Given the description of an element on the screen output the (x, y) to click on. 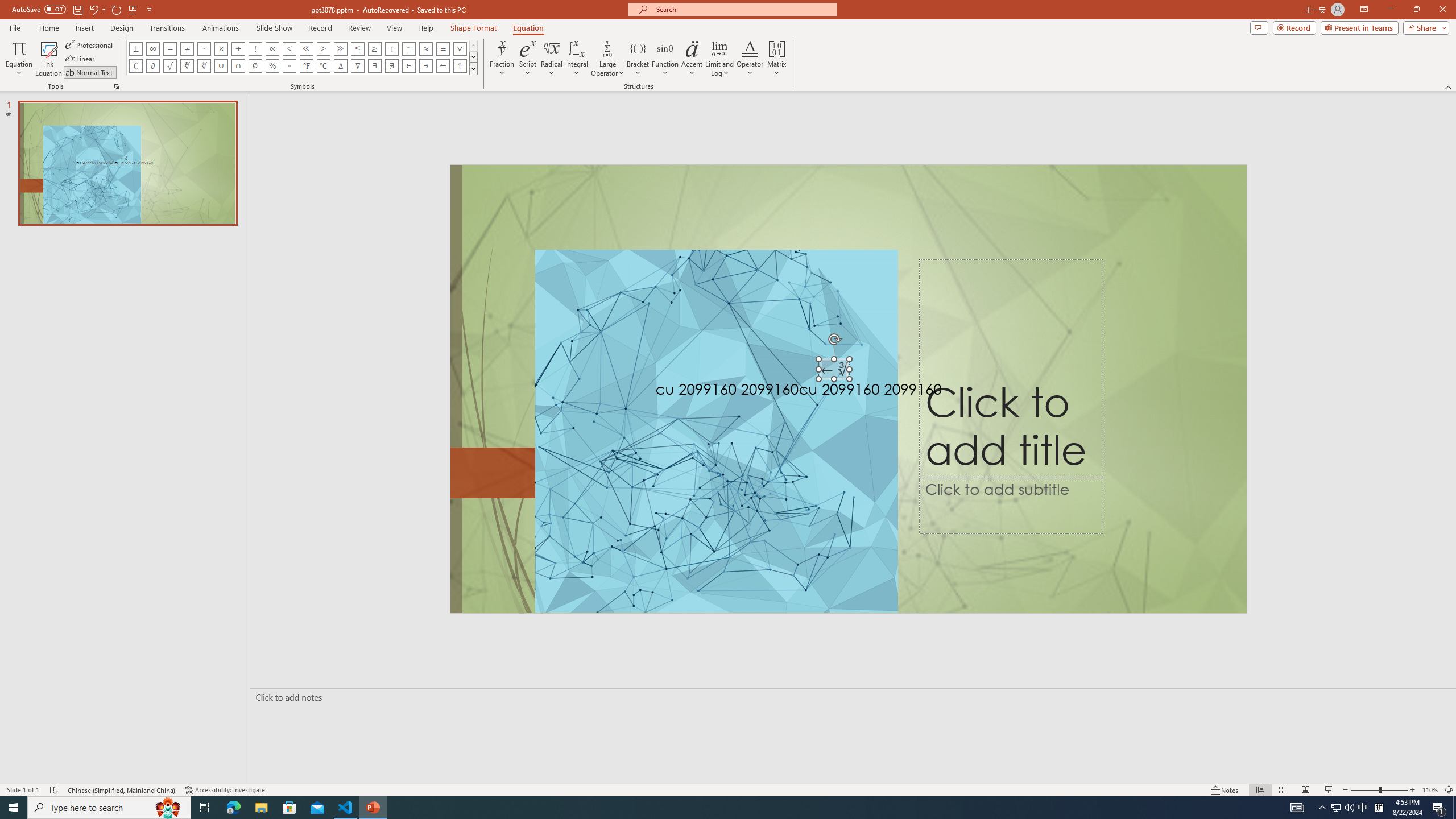
Equation (18, 58)
Equation Symbol Multiplication Sign (221, 48)
Equation Symbol Factorial (255, 48)
Large Operator (607, 58)
Equation Symbol Greater Than or Equal To (374, 48)
Equation Symbol Empty Set (255, 65)
Linear (81, 58)
